Given the description of an element on the screen output the (x, y) to click on. 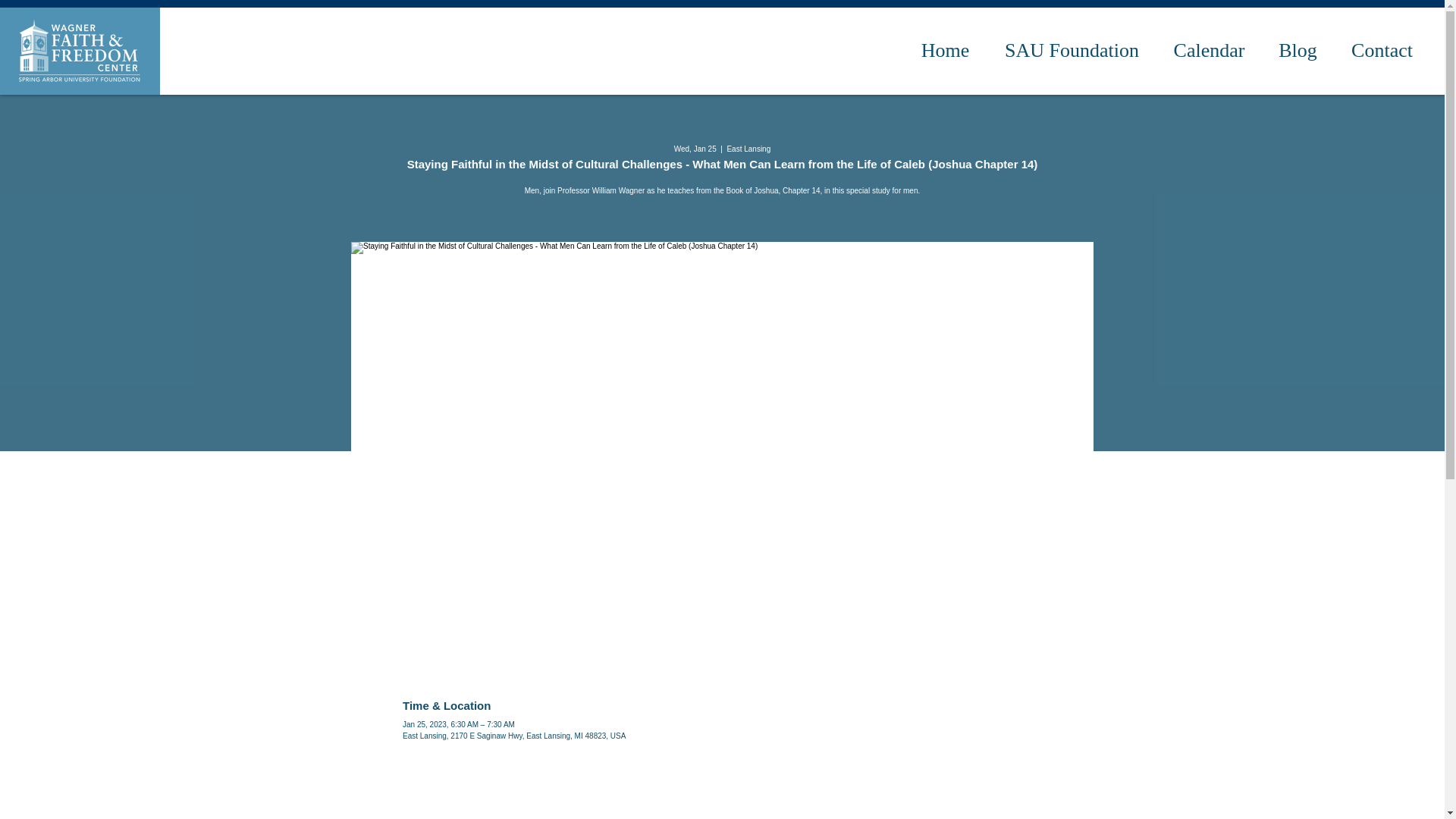
Calendar (1209, 50)
Wagner Faith and Freedom Center Logo.png (79, 50)
Contact (1382, 50)
SAU Foundation (1072, 50)
Blog (1297, 50)
Home (945, 50)
